Given the description of an element on the screen output the (x, y) to click on. 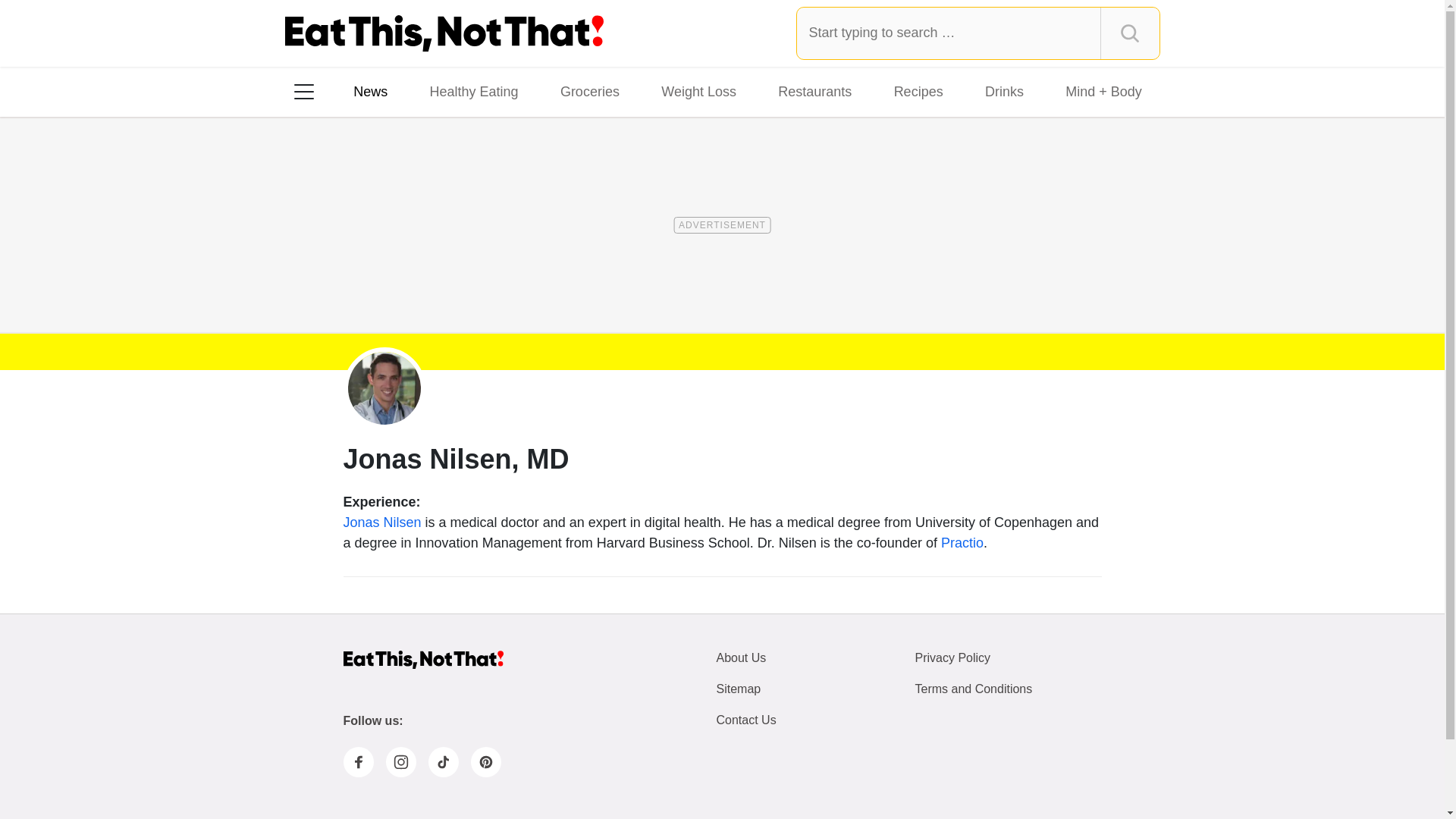
Pinterest (443, 287)
Groceries (590, 91)
Pinterest (485, 761)
TikTok (399, 287)
Practio (962, 542)
Eat This Not That Homepage (444, 33)
Instagram (399, 761)
Pinterest (443, 287)
Facebook (314, 287)
News (370, 91)
Type and press Enter to search (978, 32)
Homepage of Eat This Not That (422, 659)
Drinks (1003, 91)
Facebook (357, 761)
TikTok (443, 761)
